Given the description of an element on the screen output the (x, y) to click on. 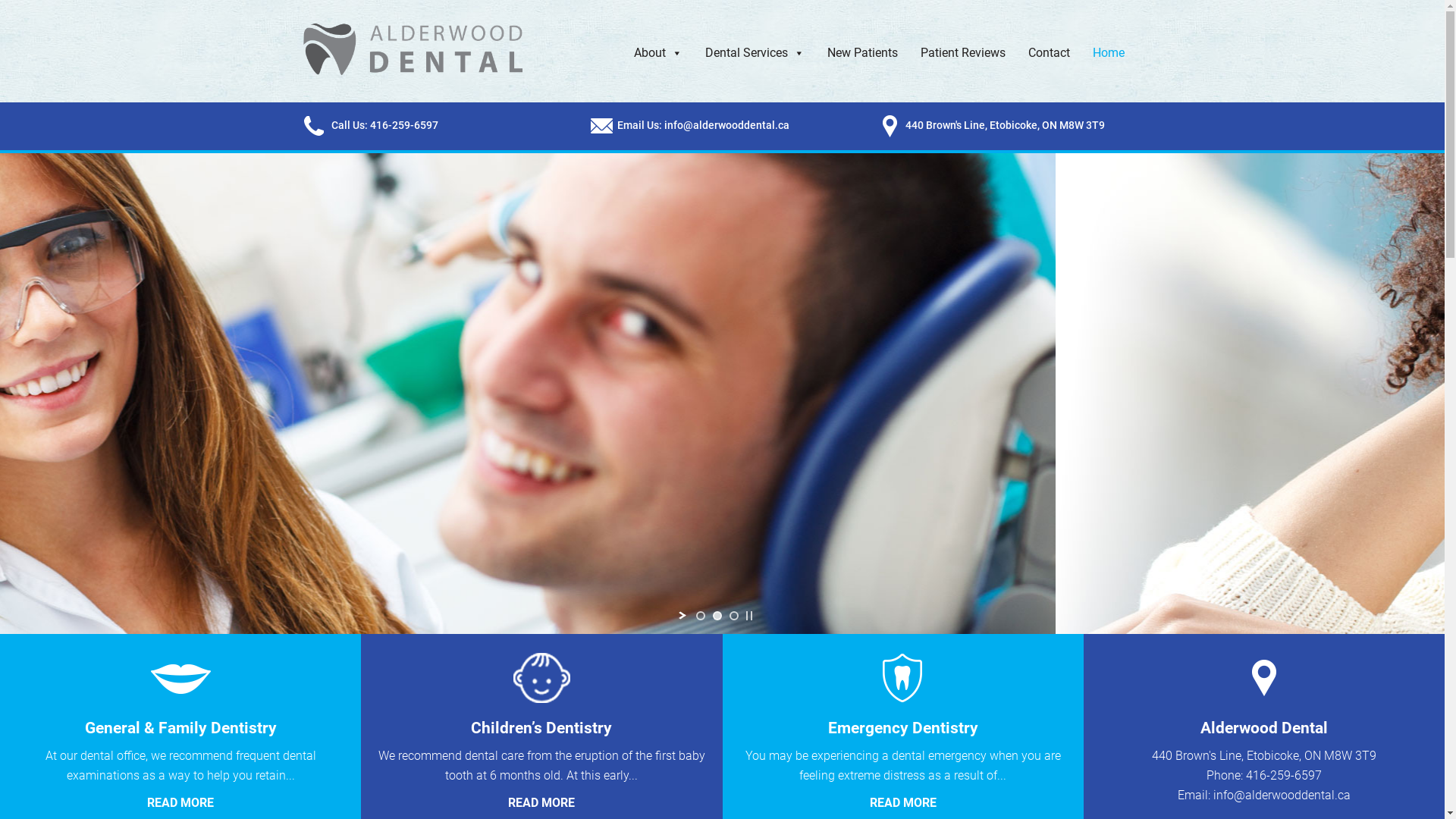
info@alderwooddental.ca Element type: text (1281, 794)
Patient Reviews Element type: text (962, 52)
READ MORE Element type: text (541, 802)
Dental Services Element type: text (754, 52)
READ MORE Element type: text (902, 802)
About Element type: text (657, 52)
New Patients Element type: text (862, 52)
416-259-6597 Element type: text (404, 125)
READ MORE Element type: text (180, 802)
416-259-6597 Element type: text (1283, 775)
Home Element type: text (1108, 52)
Contact Element type: text (1048, 52)
info@alderwooddental.ca Element type: text (726, 125)
